Given the description of an element on the screen output the (x, y) to click on. 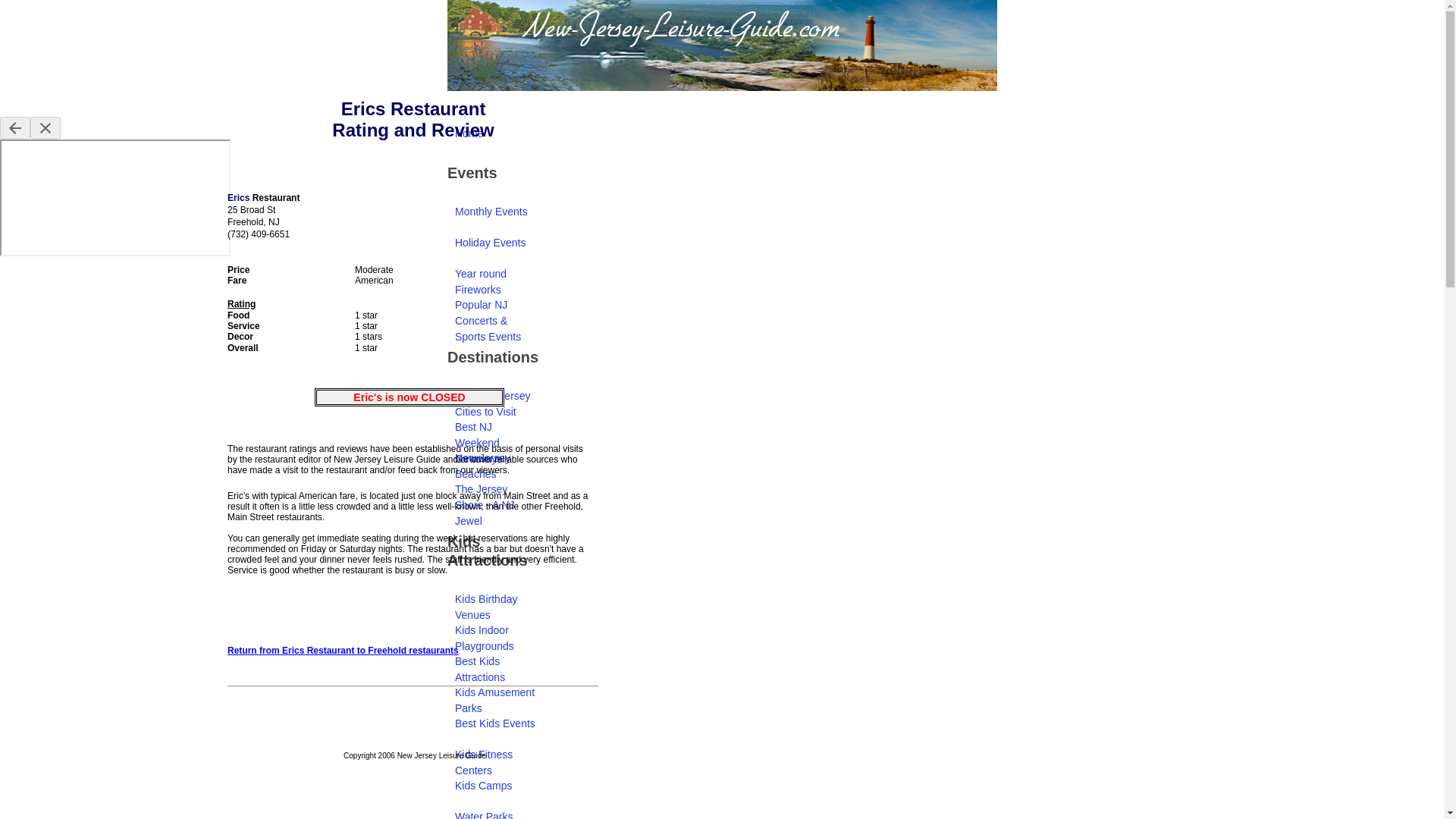
Best NJ Weekend Getaways (496, 427)
Kids Camps (496, 785)
Advertisement (411, 608)
The Jersey Shore - A NJ Jewel (496, 489)
New Jersey Beaches (496, 458)
Best Kids Attractions (496, 661)
Kids Indoor Playgrounds (496, 630)
Top New Jersey Cities to Visit (496, 395)
Water Parks (496, 810)
Return from Erics Restaurant to Freehold restaurants (342, 650)
Kids Fitness Centers (496, 754)
Holiday Events (496, 242)
Monthly Events (496, 211)
Home (496, 133)
Year round Fireworks (496, 273)
